Given the description of an element on the screen output the (x, y) to click on. 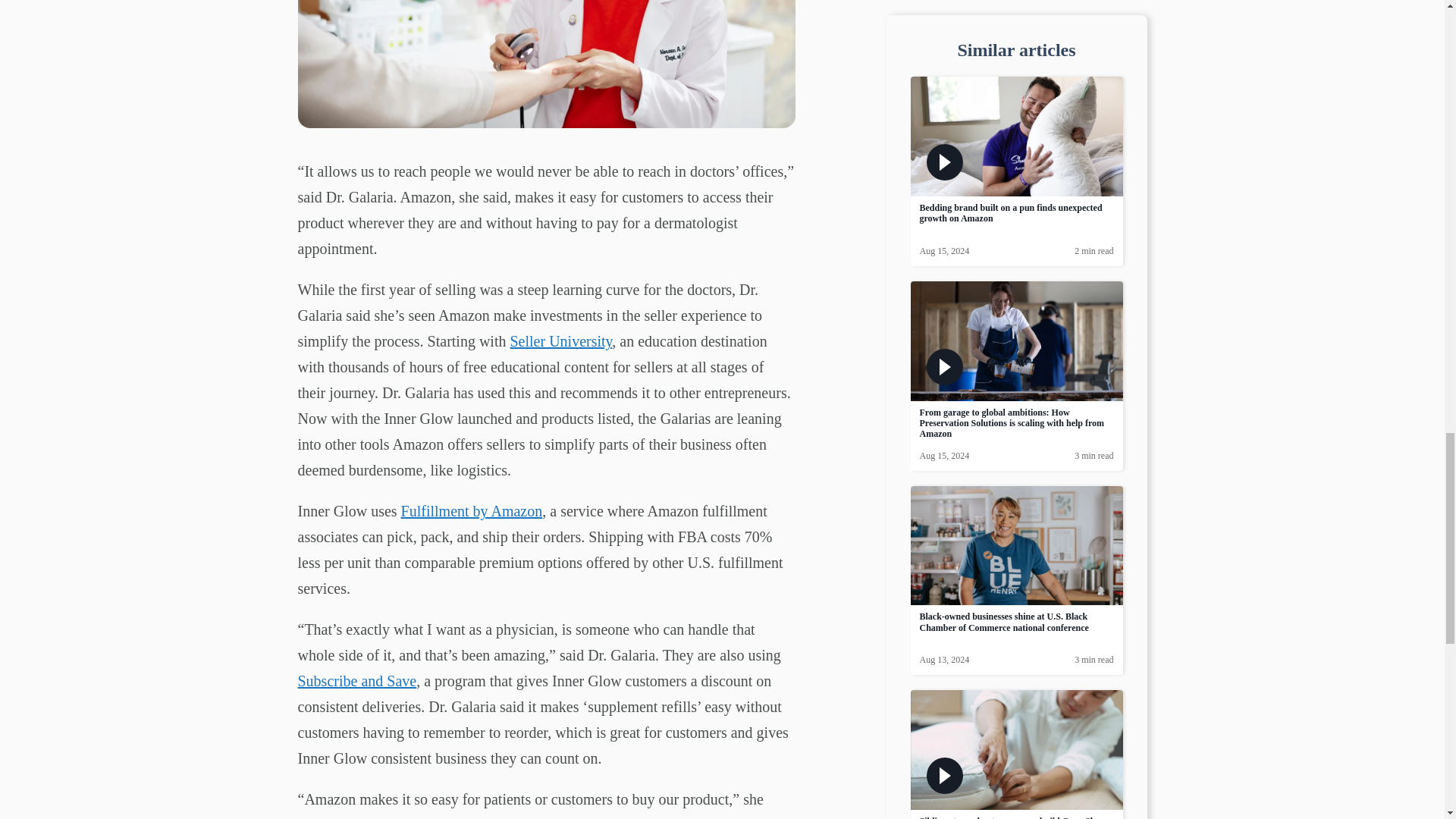
Seller University (560, 340)
Fulfillment by Amazon (472, 510)
Subscribe and Save (356, 680)
